Given the description of an element on the screen output the (x, y) to click on. 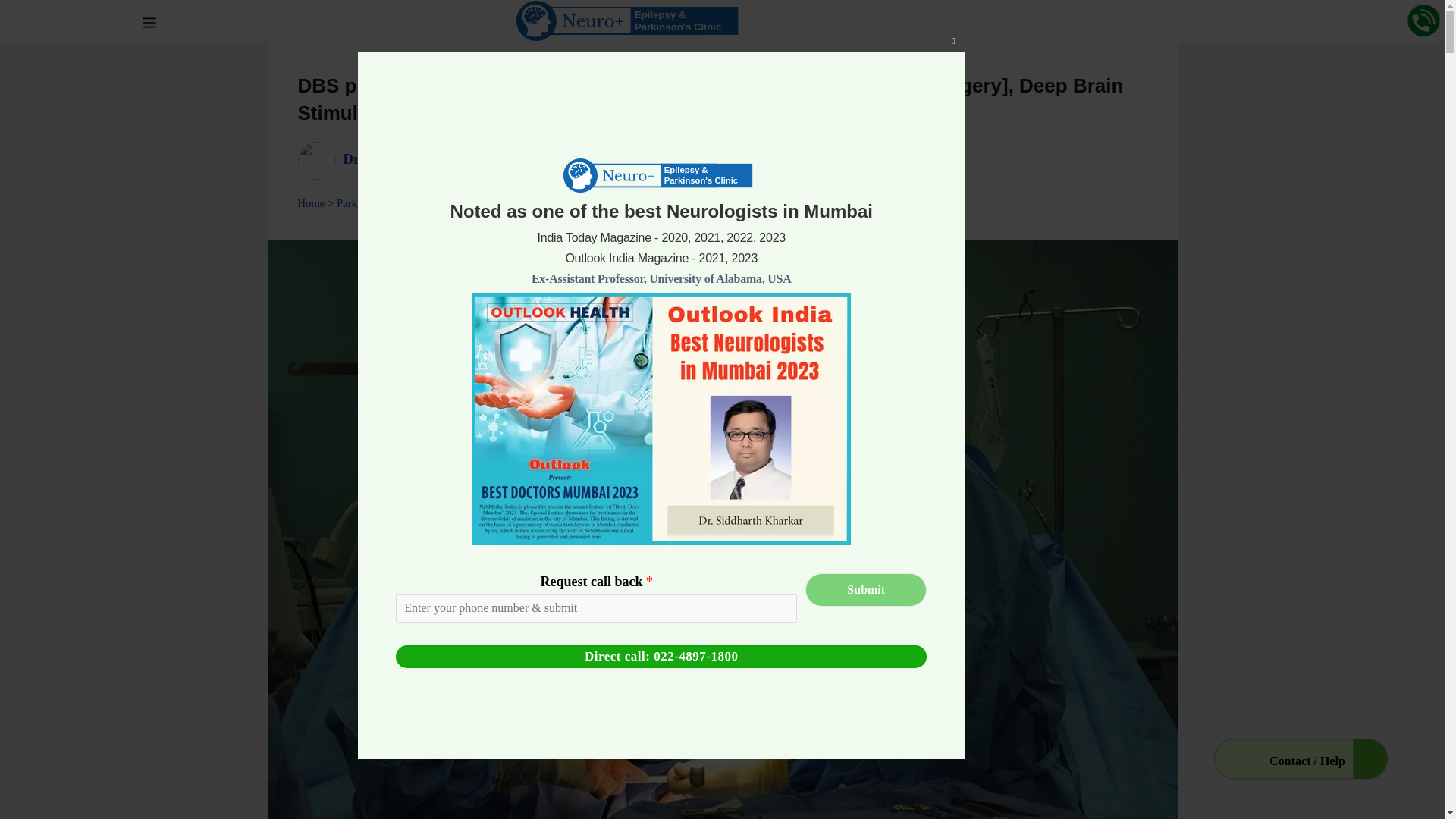
Menu (149, 20)
Home (310, 203)
